Given the description of an element on the screen output the (x, y) to click on. 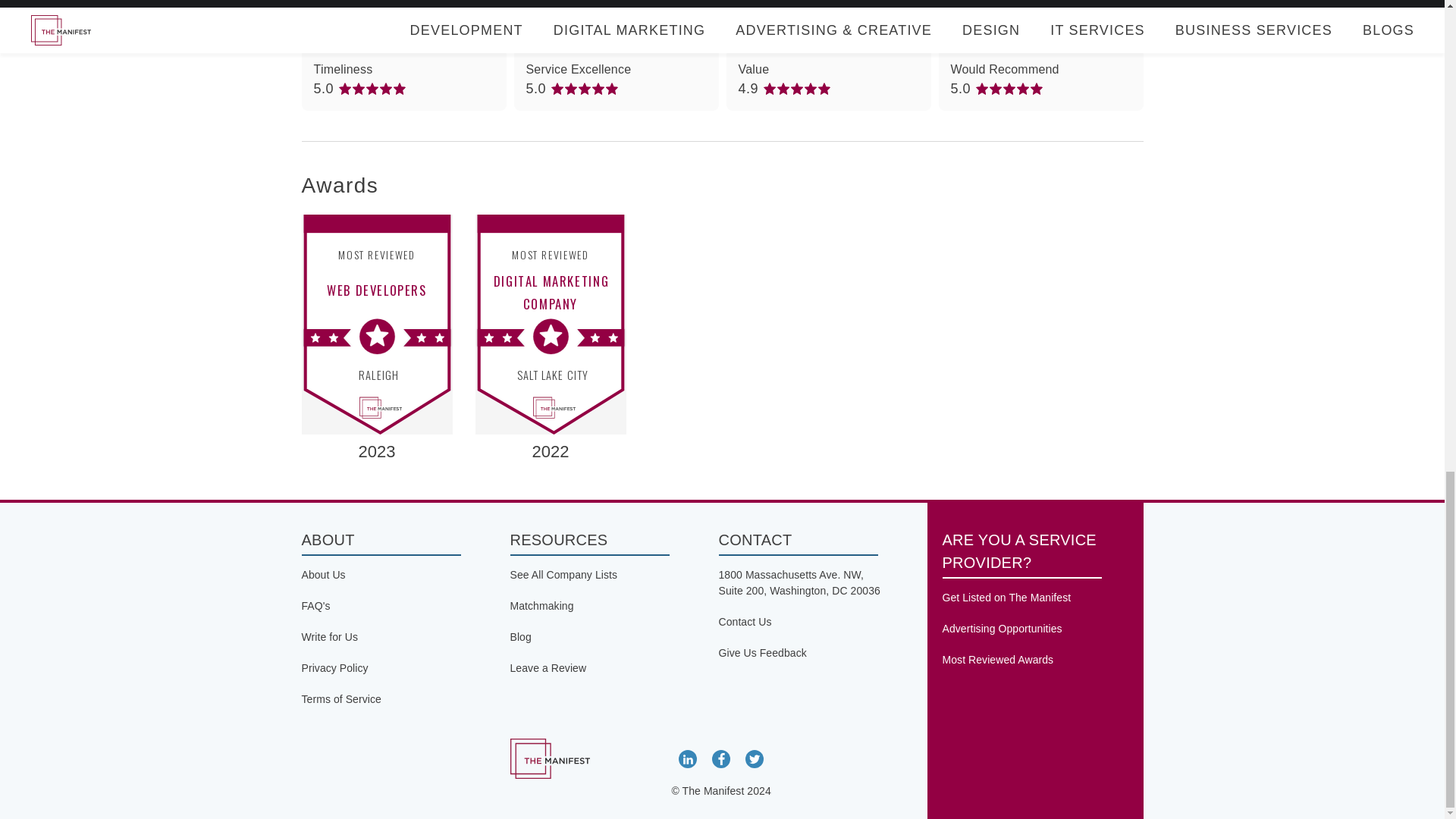
Most Reviewed Awards (997, 659)
About Us (323, 574)
Privacy Policy (334, 667)
Leave a Review (547, 667)
Write for Us (329, 636)
See All Company Lists (563, 574)
FAQ's (315, 605)
Contact Us (745, 621)
Give Us Feedback (762, 653)
Terms of Service (341, 698)
